Given the description of an element on the screen output the (x, y) to click on. 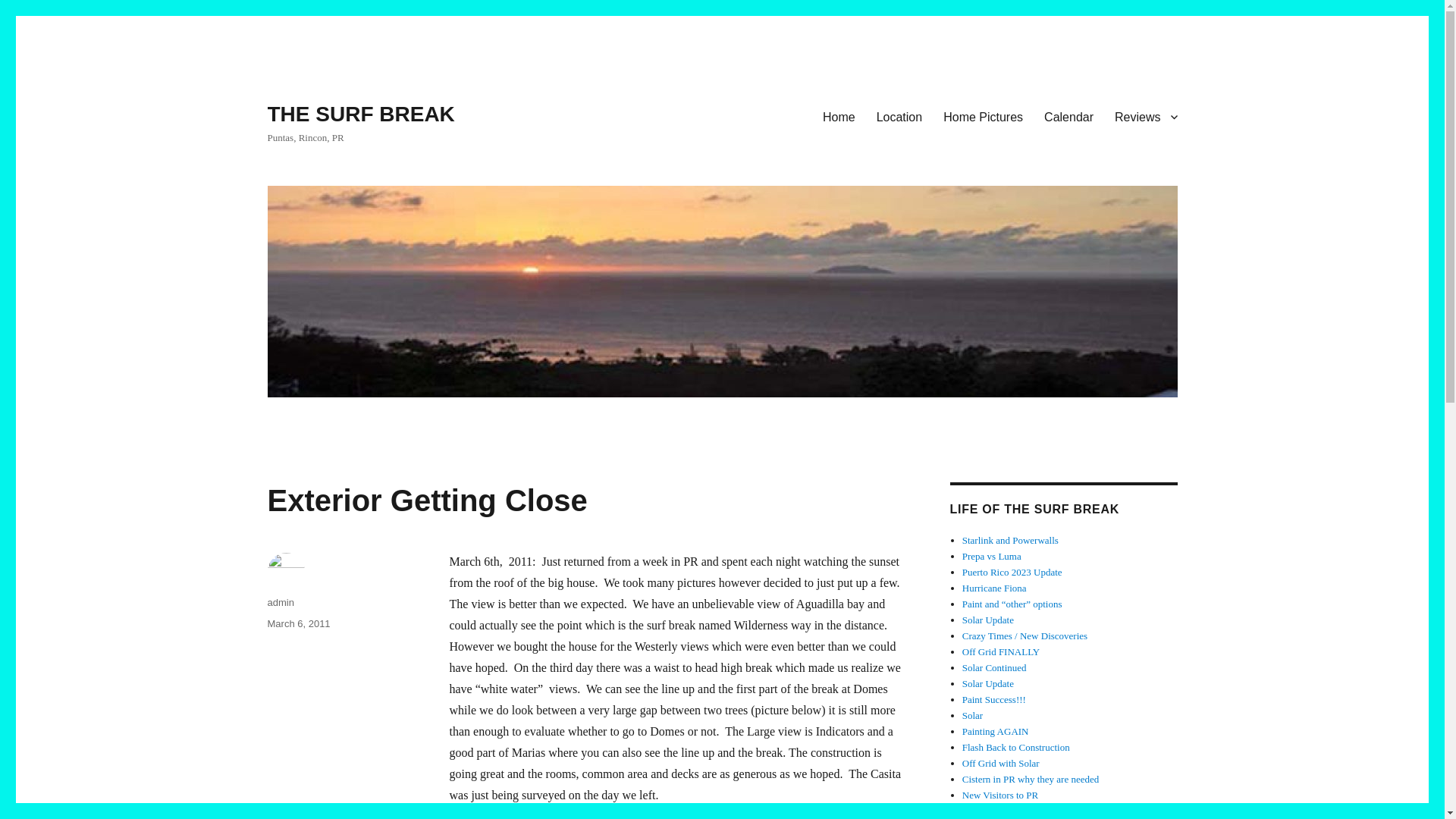
Solar Update (987, 683)
Off Grid FINALLY (1000, 651)
Puerto Rico 2023 Update (1012, 572)
UNBELEIVABLE FOILAGE RECOVERY (1048, 810)
New Visitors to PR (1000, 794)
Painting AGAIN (995, 731)
Solar (972, 715)
Home Pictures (983, 116)
Calendar (1068, 116)
Location (899, 116)
Home (839, 116)
Paint Success!!! (994, 699)
Prepa vs Luma (992, 555)
Cistern in PR why they are needed (1030, 778)
THE SURF BREAK (360, 114)
